Given the description of an element on the screen output the (x, y) to click on. 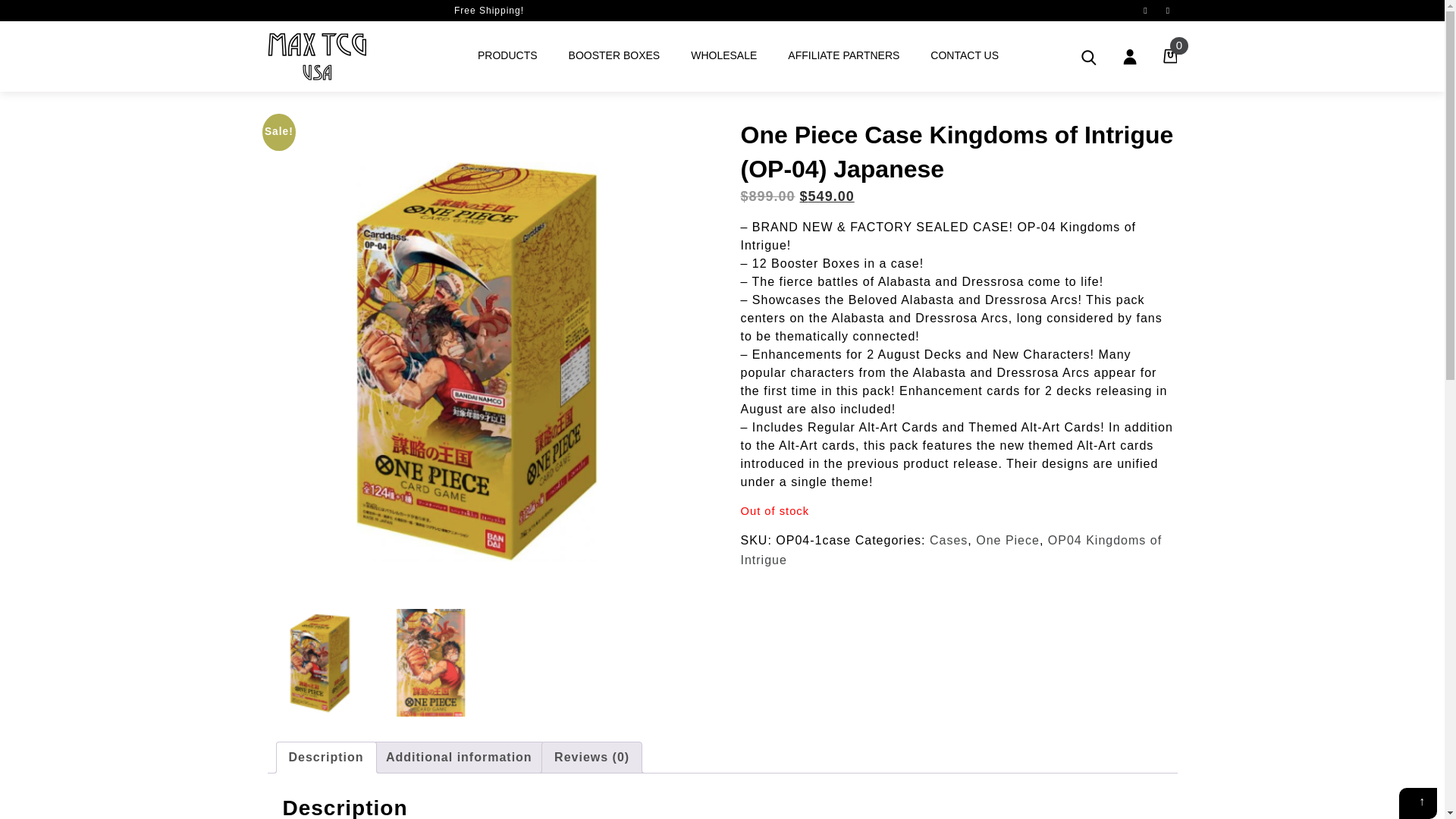
MaxTCG USA on Instagram (1167, 10)
PRODUCTS (507, 56)
Search (1088, 57)
AFFILIATE PARTNERS (843, 56)
WHOLESALE (723, 56)
BOOSTER BOXES (614, 56)
CONTACT US (964, 56)
MaxTCG USA on Tiktok (1145, 10)
